Given the description of an element on the screen output the (x, y) to click on. 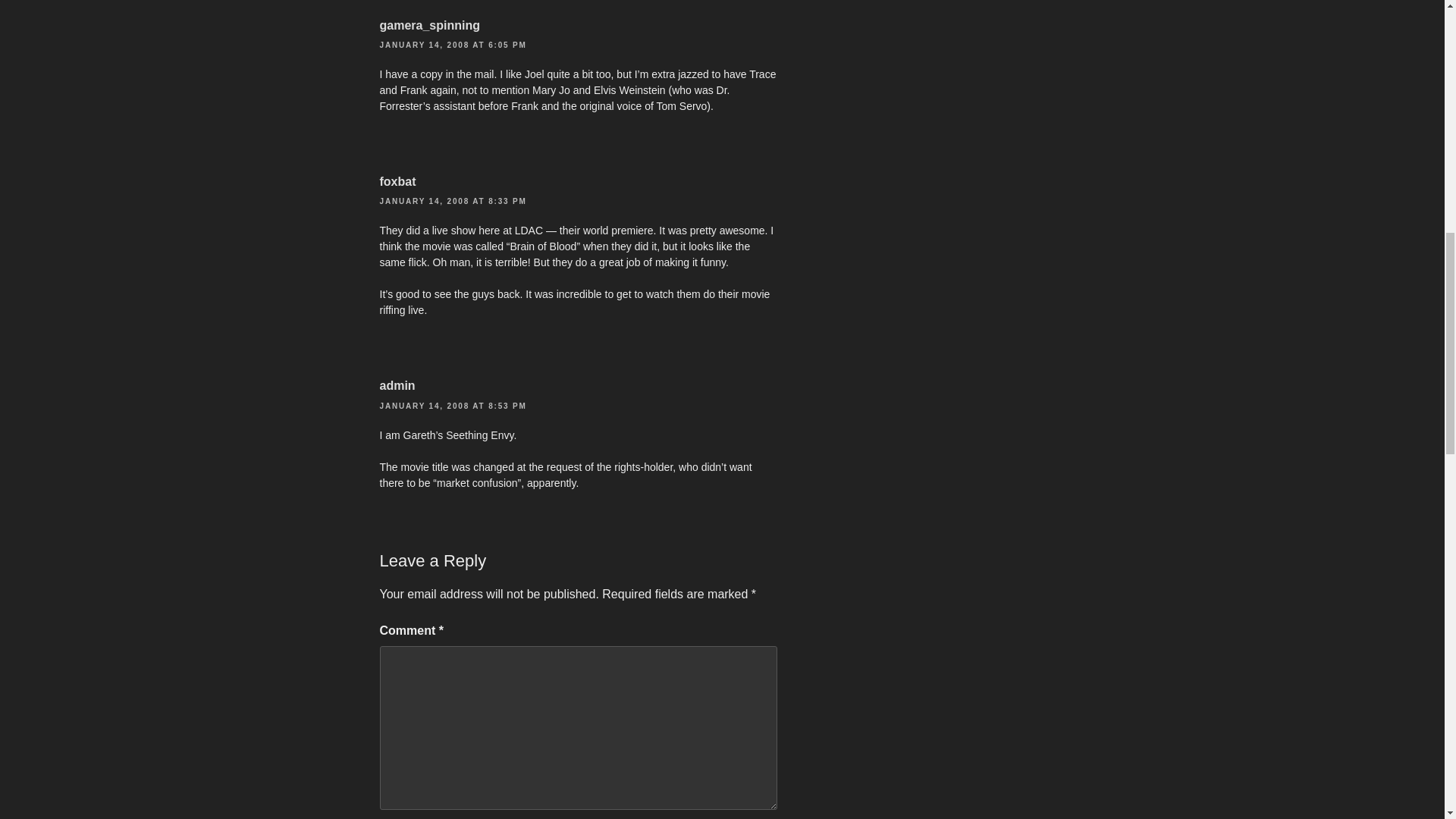
JANUARY 14, 2008 AT 6:05 PM (451, 44)
foxbat (396, 181)
JANUARY 14, 2008 AT 8:33 PM (451, 201)
JANUARY 14, 2008 AT 8:53 PM (451, 406)
admin (396, 385)
